Given the description of an element on the screen output the (x, y) to click on. 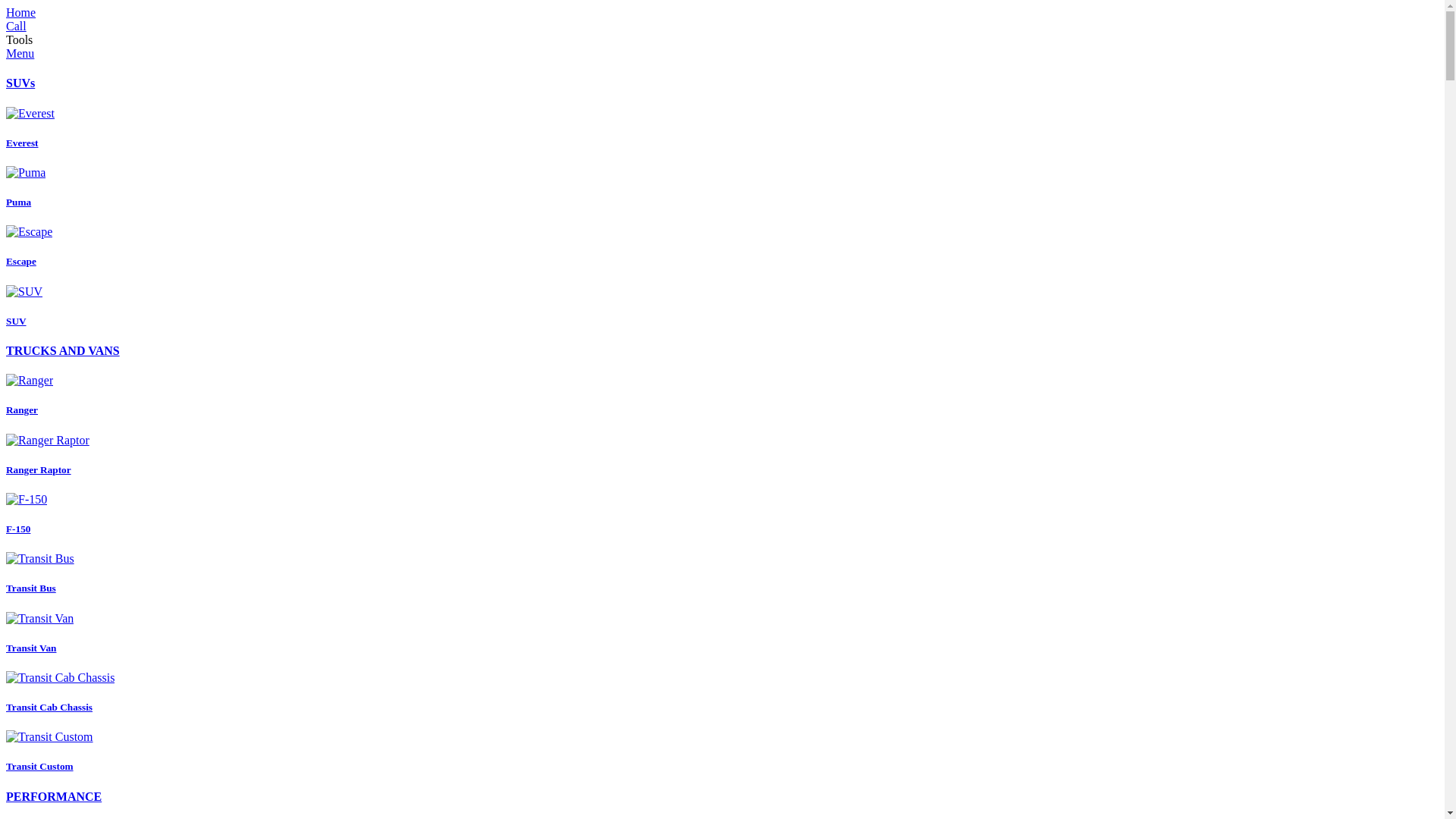
Escape Element type: text (722, 246)
Transit Van Element type: text (722, 632)
Everest Element type: text (722, 127)
Ranger Element type: text (722, 394)
Home Element type: text (20, 12)
Transit Cab Chassis Element type: text (722, 692)
Tools Element type: text (19, 39)
F-150 Element type: text (722, 513)
TRUCKS AND VANS Element type: text (62, 350)
Transit Custom Element type: text (722, 751)
Transit Bus Element type: text (722, 573)
SUVs Element type: text (20, 82)
SUV Element type: text (722, 306)
Puma Element type: text (722, 187)
PERFORMANCE Element type: text (53, 796)
Call Element type: text (16, 25)
Menu Element type: text (20, 53)
Ranger Raptor Element type: text (722, 454)
